Given the description of an element on the screen output the (x, y) to click on. 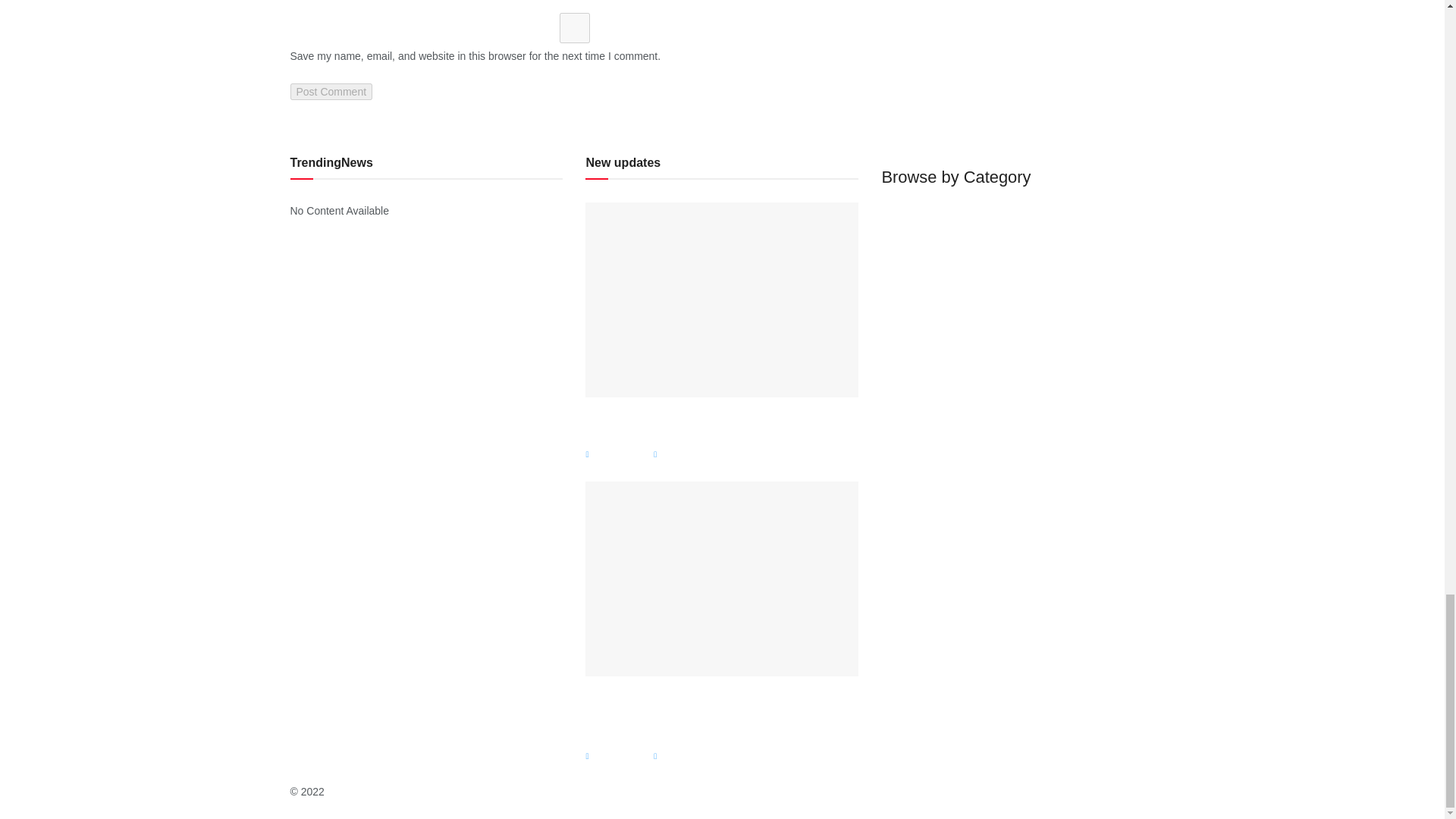
yes (574, 28)
Post Comment (330, 91)
